Given the description of an element on the screen output the (x, y) to click on. 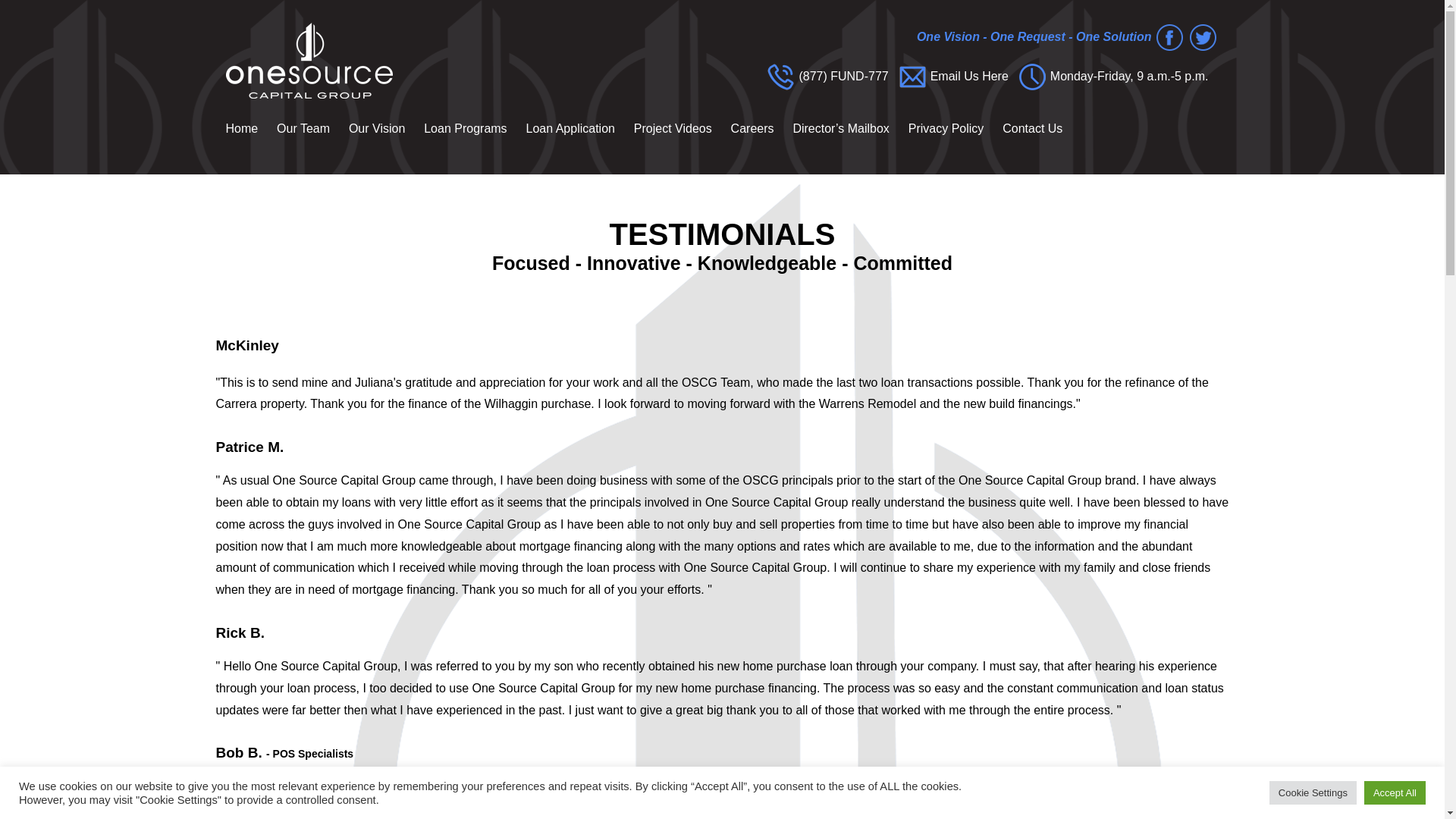
Careers (744, 128)
Loan Application (561, 128)
Privacy Policy (938, 128)
Our Vision (368, 128)
Loan Programs (456, 128)
Our Team (295, 128)
Project Videos (664, 128)
Email Us Here (969, 76)
Contact Us (1024, 128)
